Given the description of an element on the screen output the (x, y) to click on. 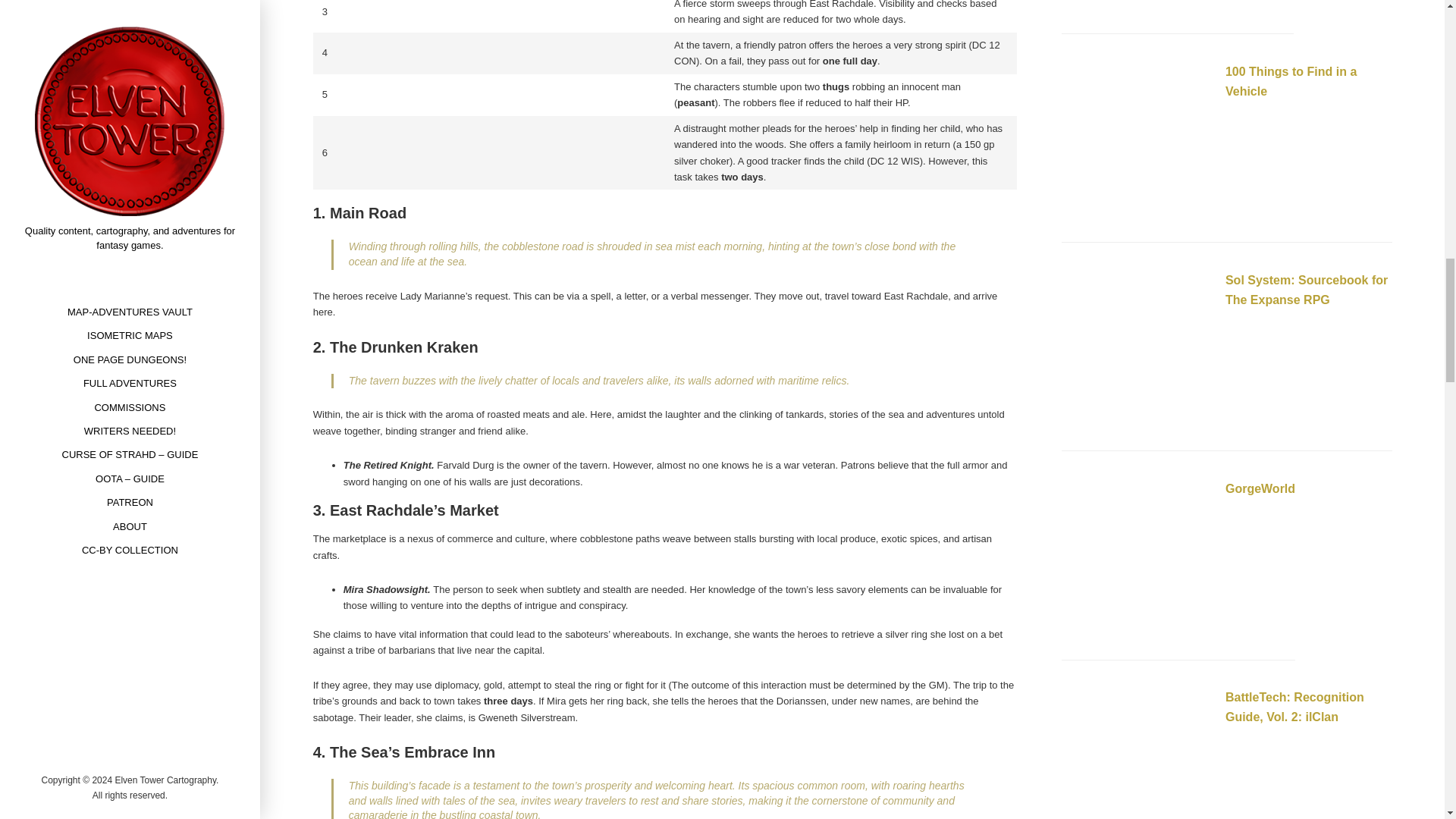
Sol System: Sourcebook for The Expanse RPG (1136, 349)
100 Things to Find in a Vehicle (1136, 141)
Death Metal (1136, 4)
100 Things to Find in a Vehicle (1290, 81)
